Given the description of an element on the screen output the (x, y) to click on. 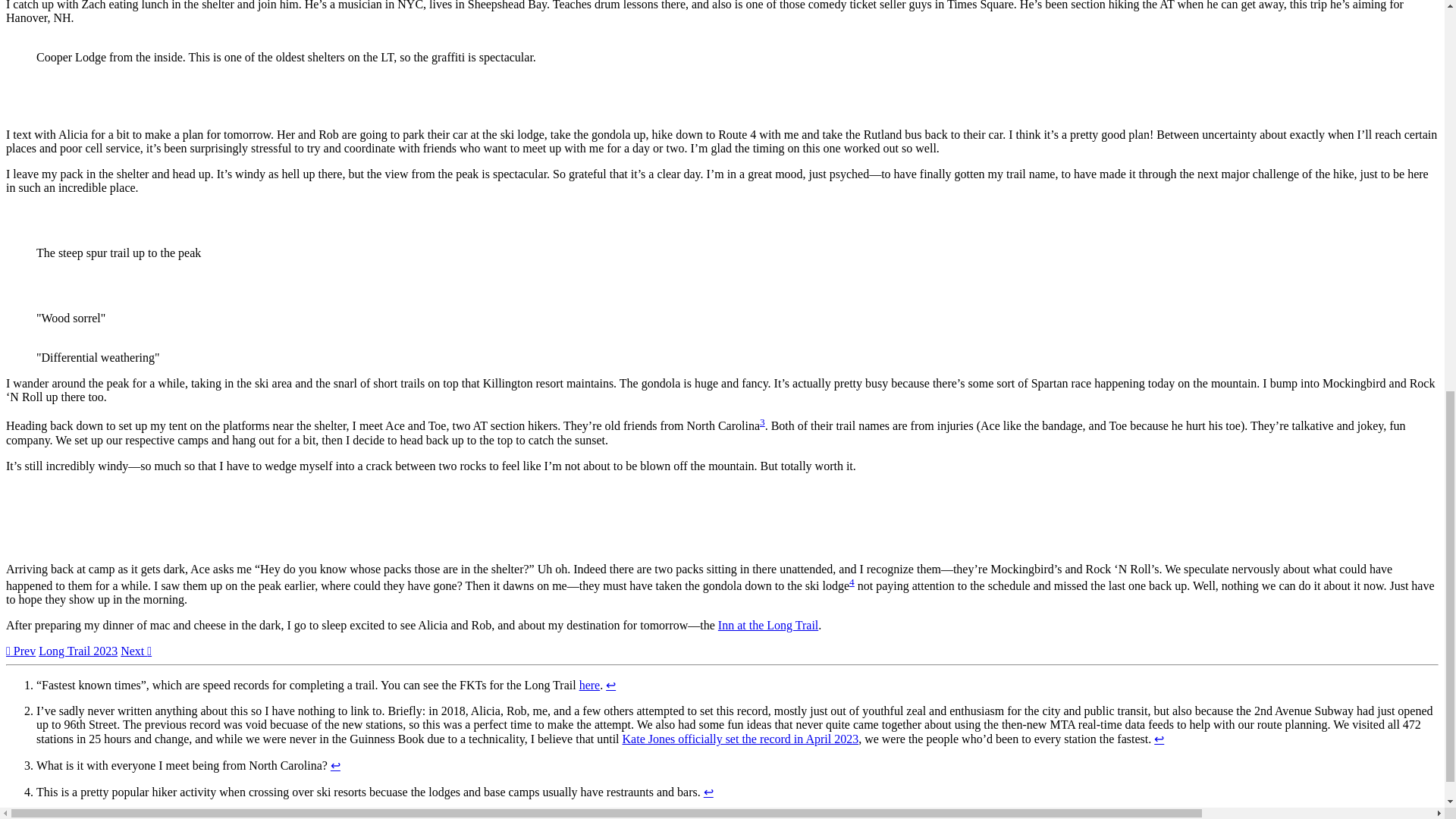
here (589, 684)
Kate Jones officially set the record in April 2023 (741, 738)
Long Trail 2023 (78, 650)
Inn at the Long Trail (767, 625)
